Given the description of an element on the screen output the (x, y) to click on. 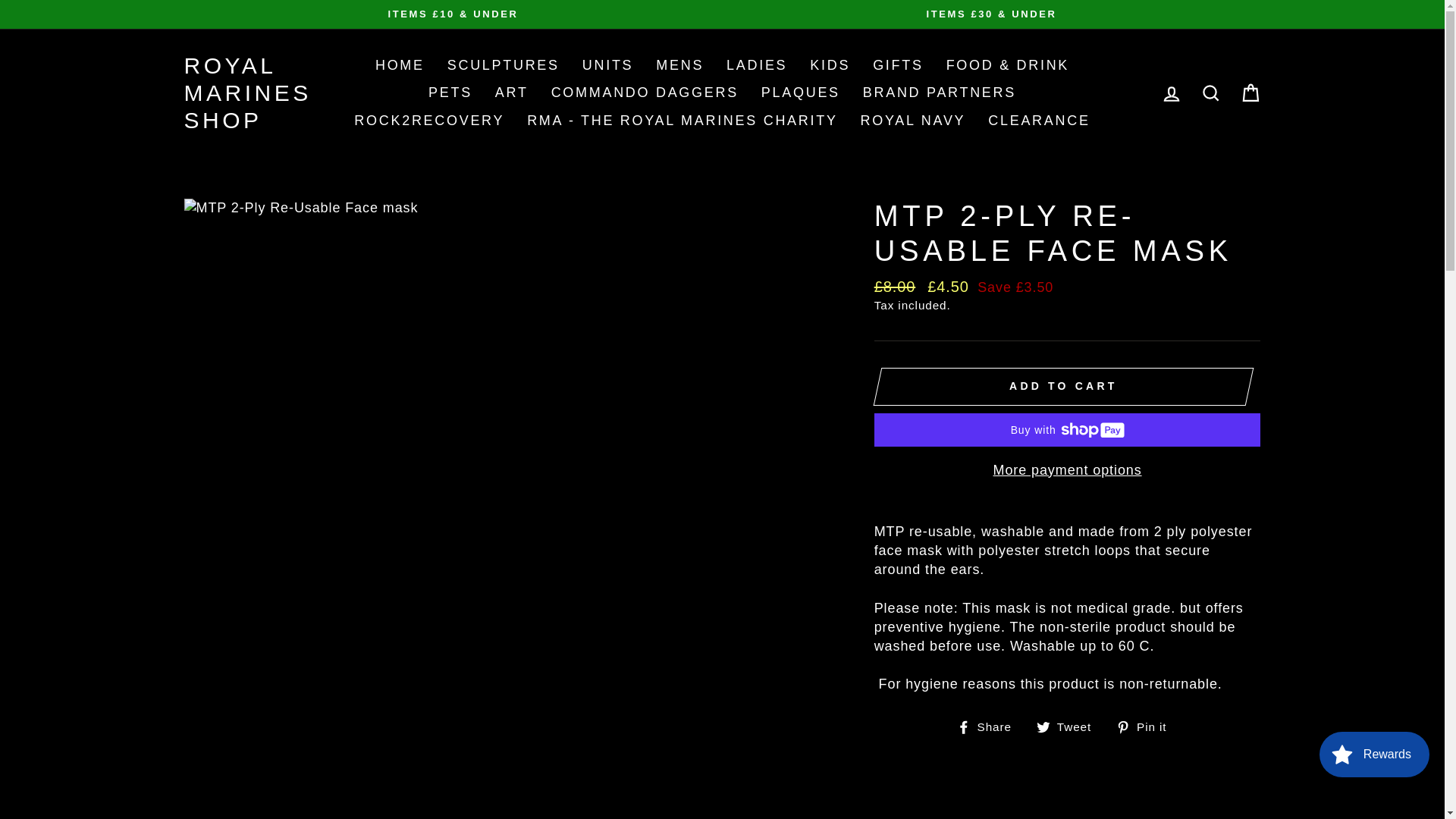
Tweet on Twitter (1069, 725)
Share on Facebook (989, 725)
Pin on Pinterest (1146, 725)
